Given the description of an element on the screen output the (x, y) to click on. 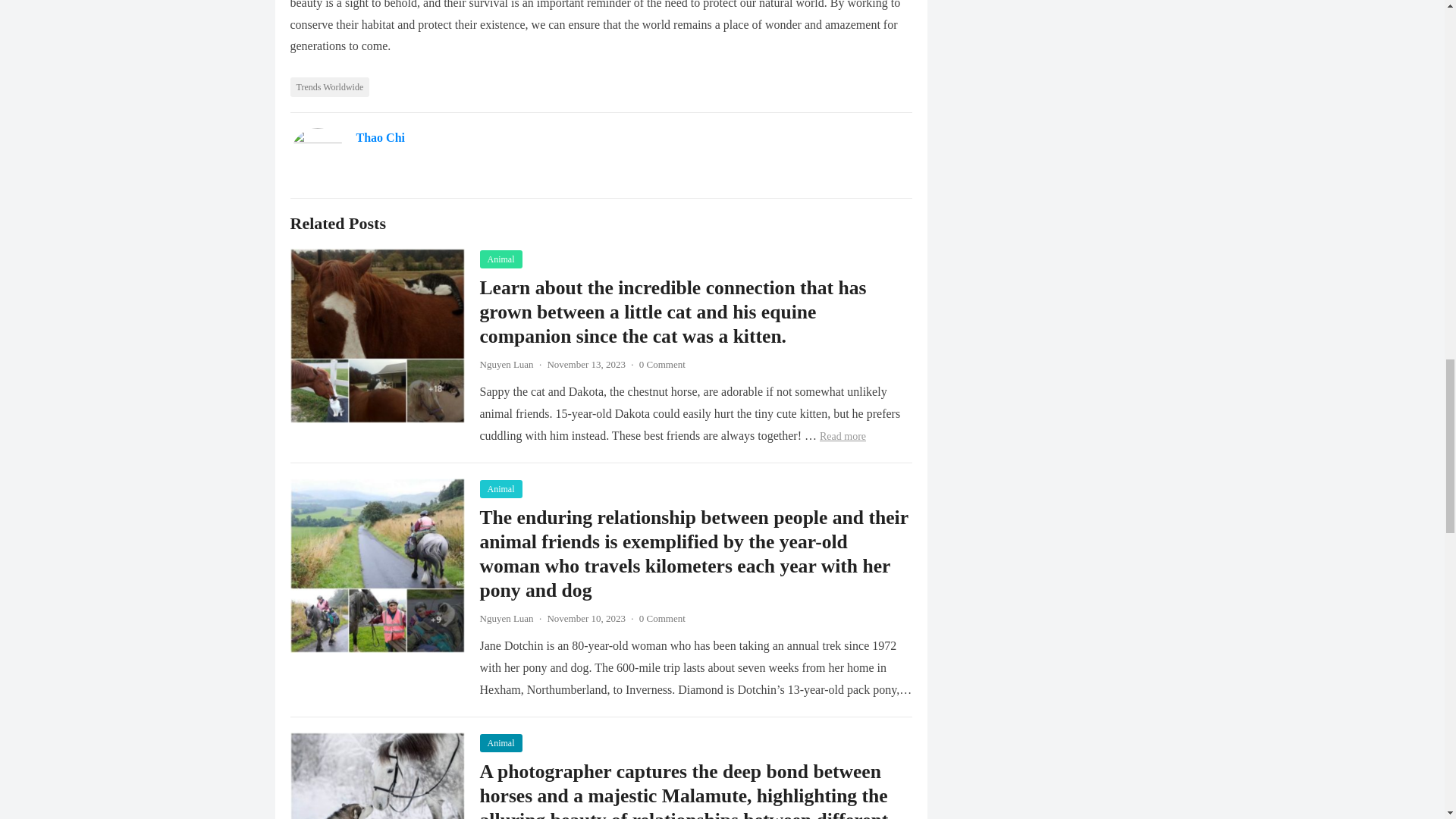
Animal (500, 742)
Nguyen Luan (505, 364)
Read more (842, 436)
Nguyen Luan (505, 618)
Animal (500, 259)
Posts by Nguyen Luan (505, 618)
Trends Worldwide (329, 86)
0 Comment (662, 618)
